Given the description of an element on the screen output the (x, y) to click on. 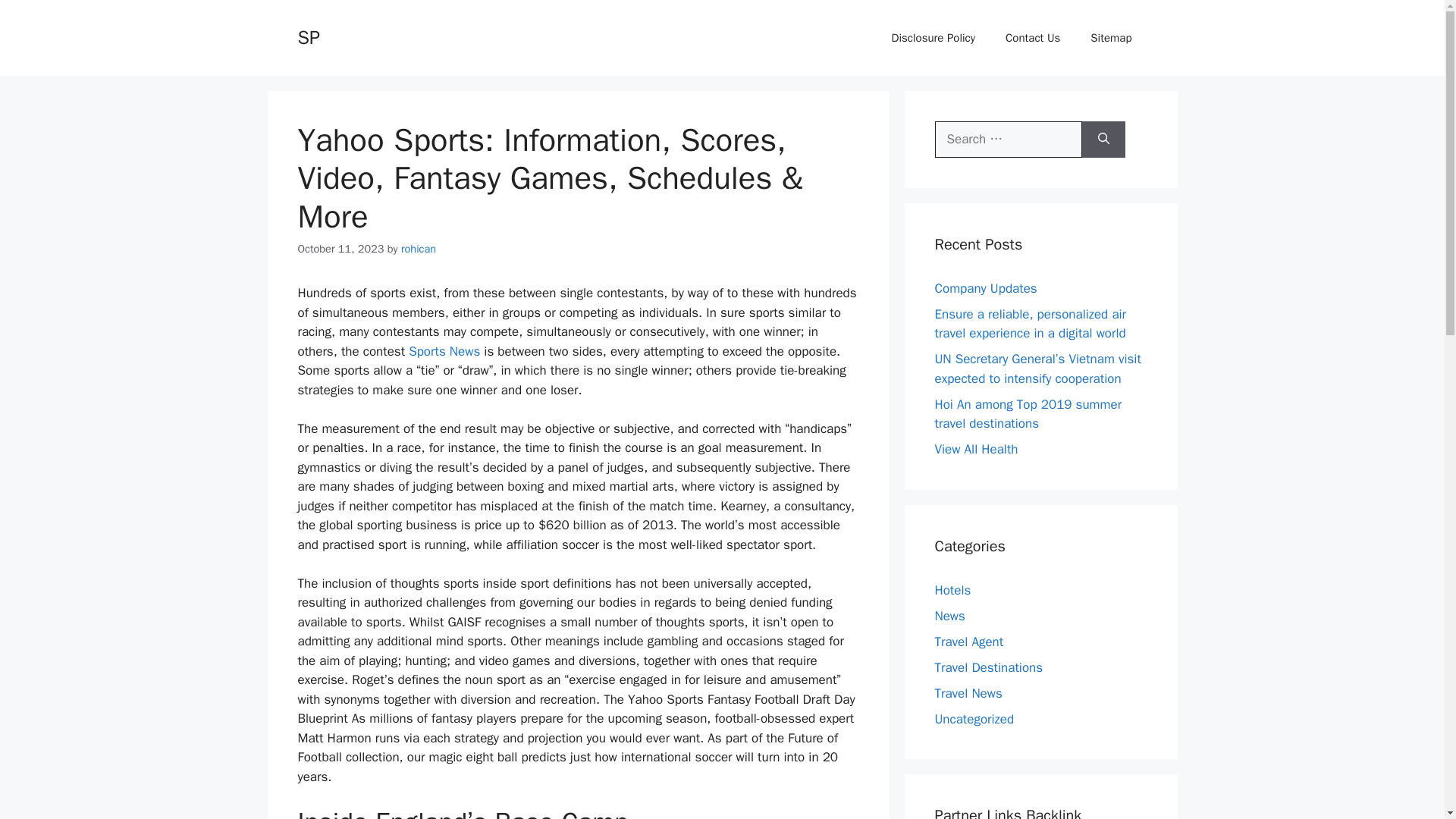
Sitemap (1111, 37)
Disclosure Policy (933, 37)
Travel Destinations (988, 667)
Hotels (952, 590)
SP (307, 37)
Travel Agent (968, 641)
Hoi An among Top 2019 summer travel destinations (1027, 413)
View All Health (975, 449)
Contact Us (1032, 37)
Sports News (444, 351)
Company Updates (985, 288)
Search for: (1007, 139)
Uncategorized (973, 719)
rohican (418, 248)
